Given the description of an element on the screen output the (x, y) to click on. 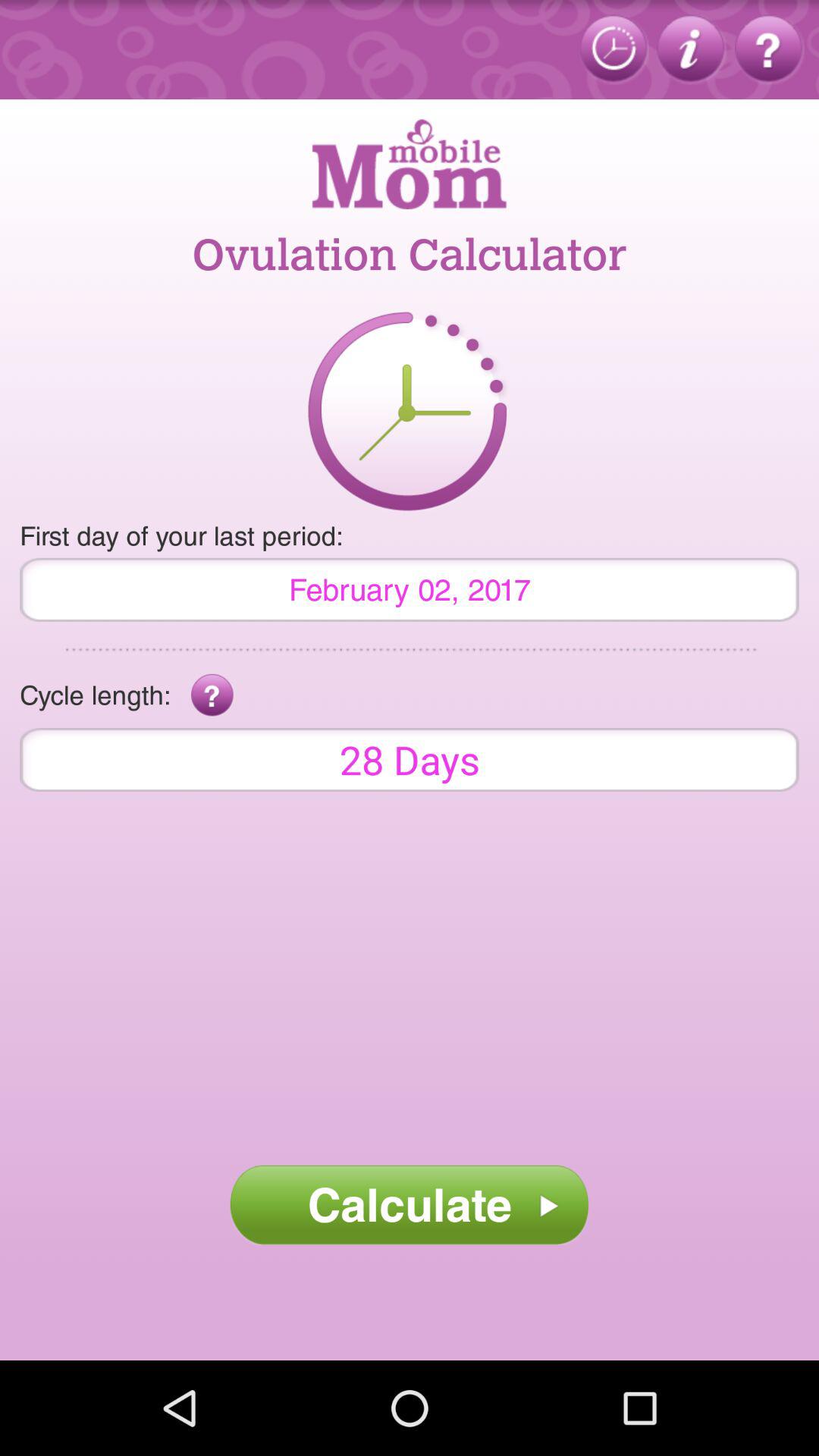
select the icon above the 28 days (212, 695)
